Given the description of an element on the screen output the (x, y) to click on. 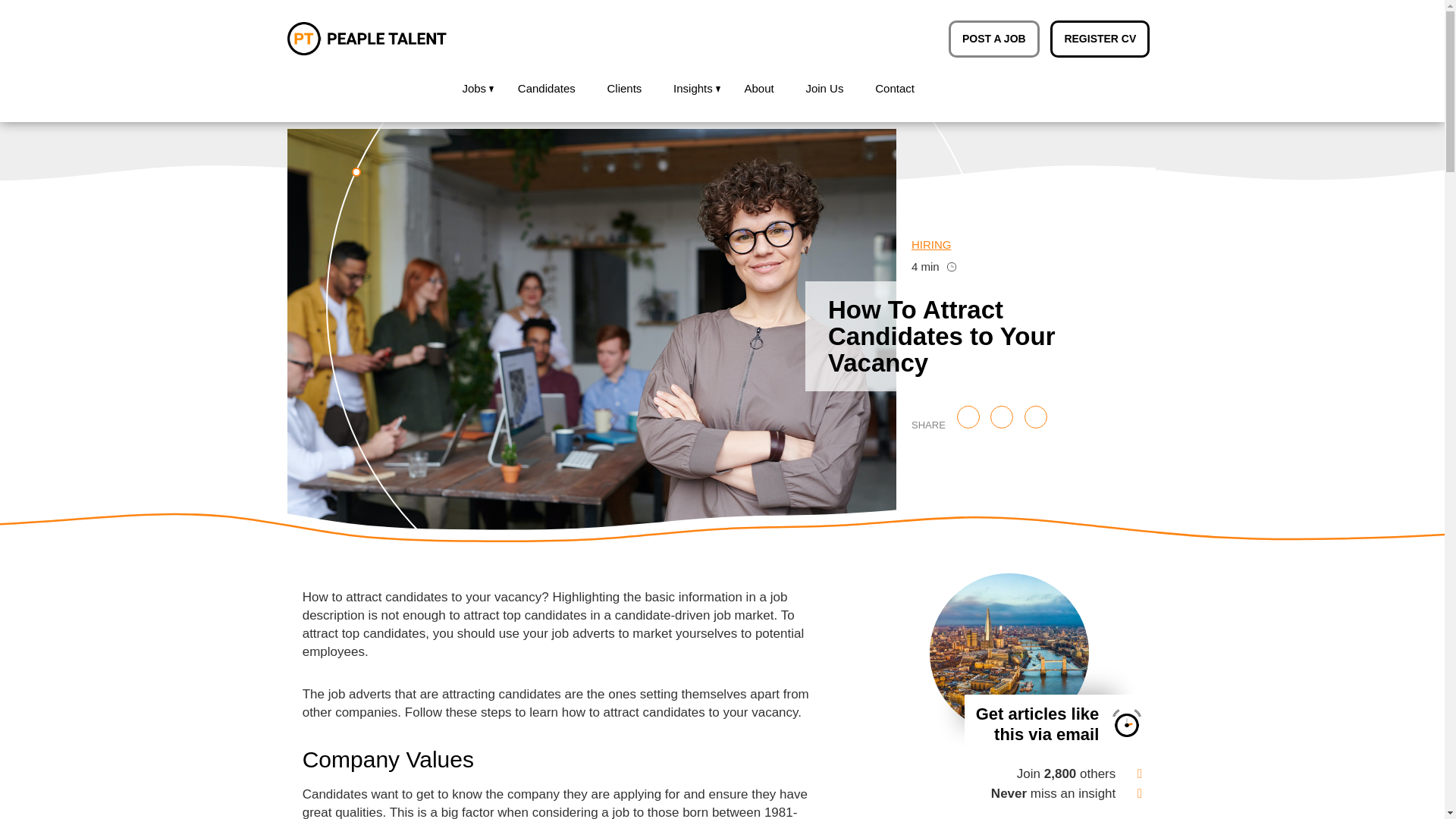
Post a Job (994, 38)
Insights (692, 88)
REGISTER CV (1099, 38)
Peaple Talent Technology Recruitment (366, 38)
About (758, 88)
Jobs (473, 88)
HIRING (1026, 244)
Join Us (823, 88)
Register a CV (1099, 38)
Clients (623, 88)
POST A JOB (994, 38)
Contact (894, 88)
Candidates (546, 88)
